Given the description of an element on the screen output the (x, y) to click on. 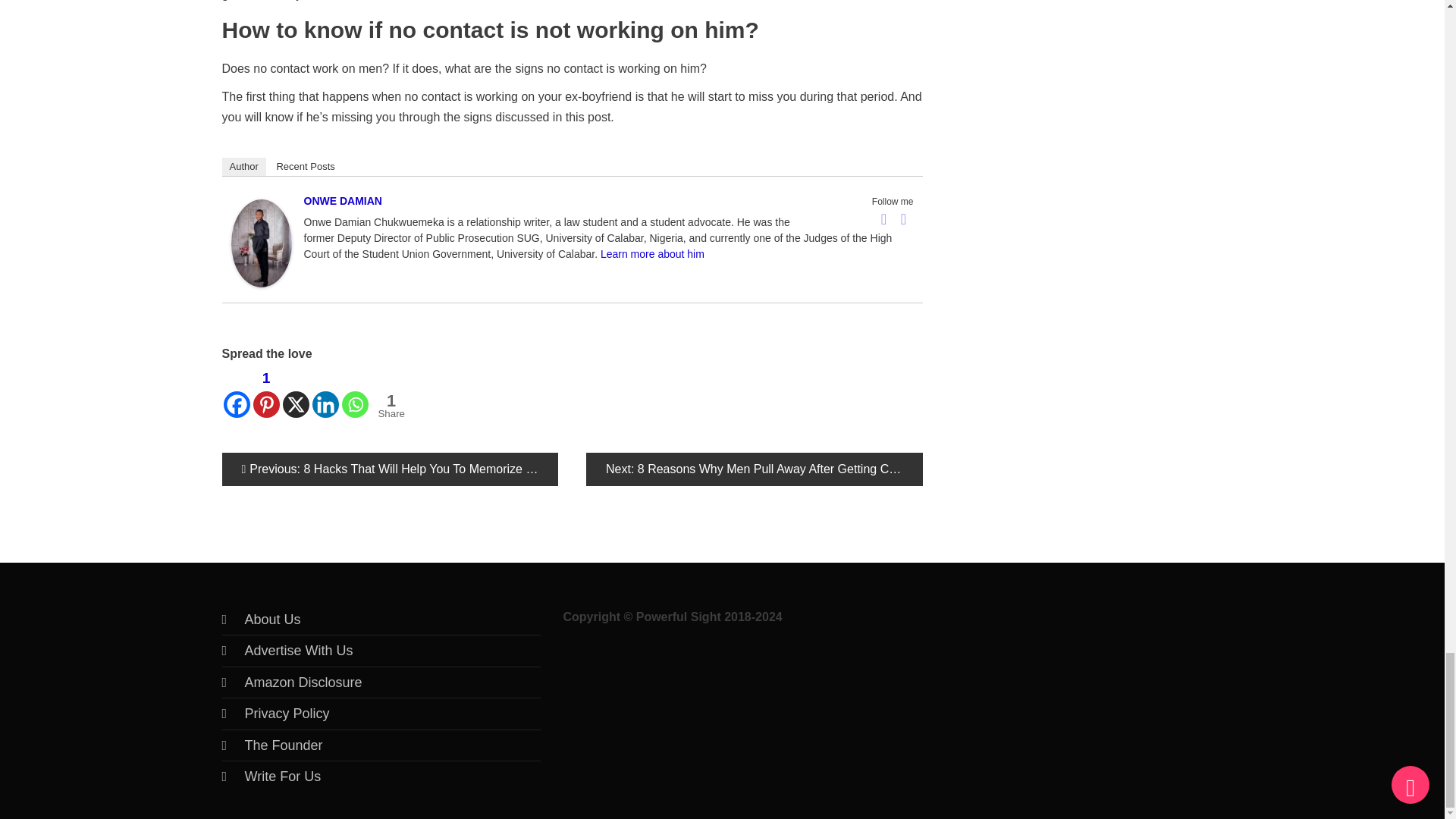
Facebook (884, 218)
Facebook (235, 391)
ONWE DAMIAN (260, 242)
Twitter (903, 218)
Linkedin (326, 391)
X (295, 391)
Pinterest (266, 391)
